Given the description of an element on the screen output the (x, y) to click on. 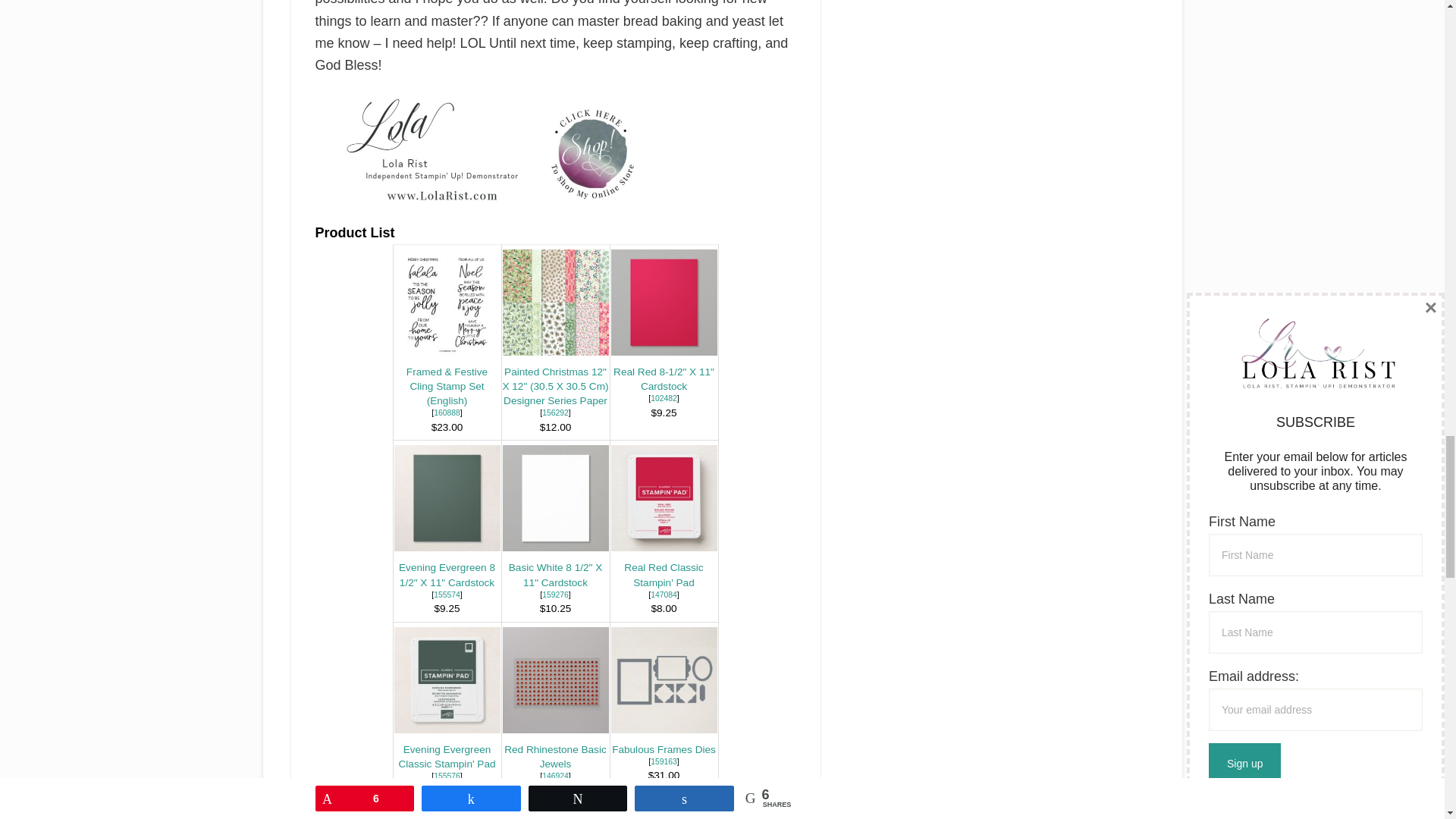
156292 (555, 412)
Real Red Classic Stampin' Pad (663, 574)
155574 (446, 594)
102482 (663, 397)
160888 (446, 412)
159276 (555, 594)
